Given the description of an element on the screen output the (x, y) to click on. 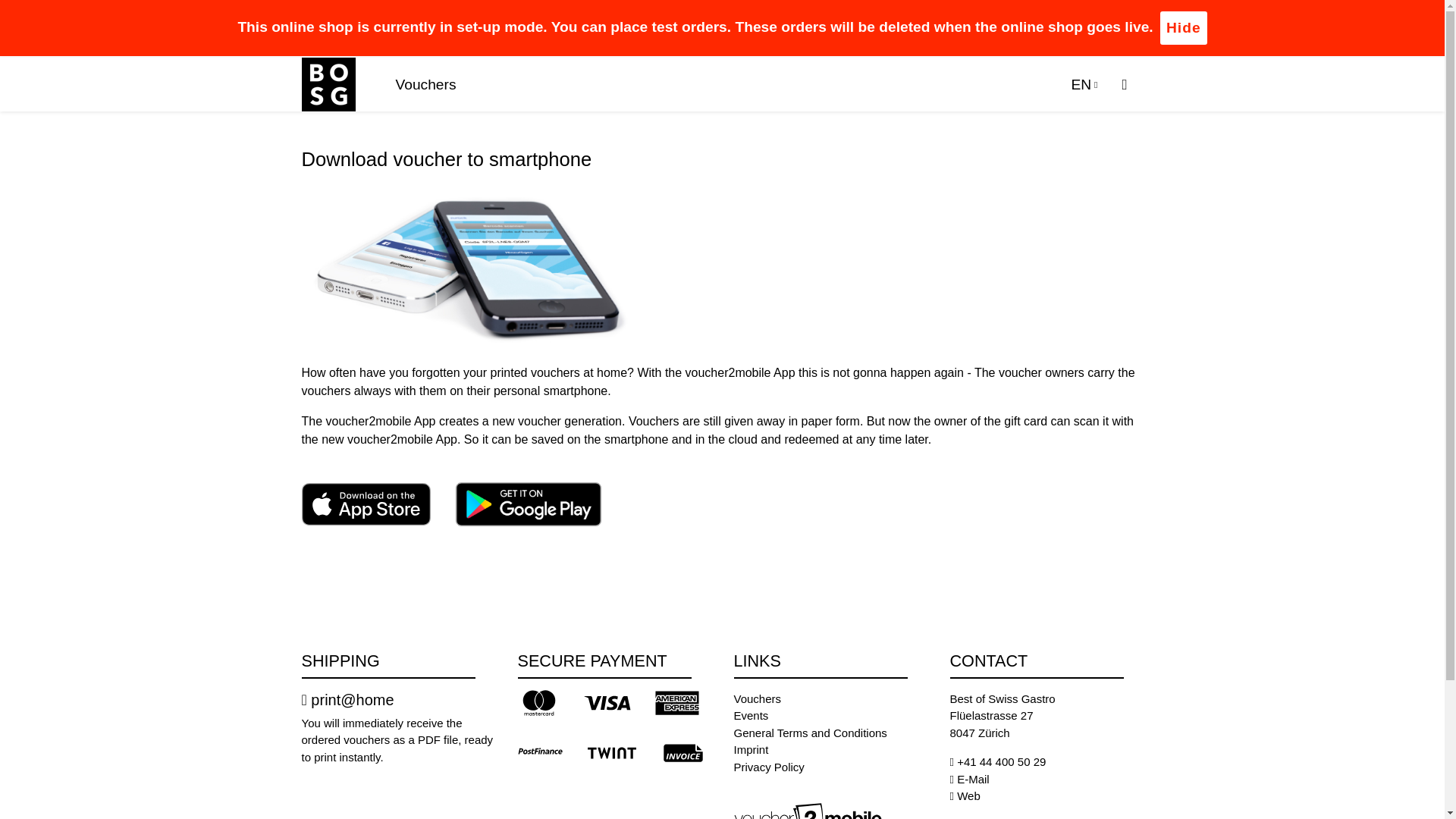
Events (750, 715)
EN (1083, 84)
Imprint (750, 748)
E-Mail (973, 779)
General Terms and Conditions (809, 732)
Shopping Cart (1125, 84)
Privacy Policy (769, 766)
Vouchers (426, 84)
Hide (1183, 28)
Vouchers (757, 698)
Web (967, 795)
